Given the description of an element on the screen output the (x, y) to click on. 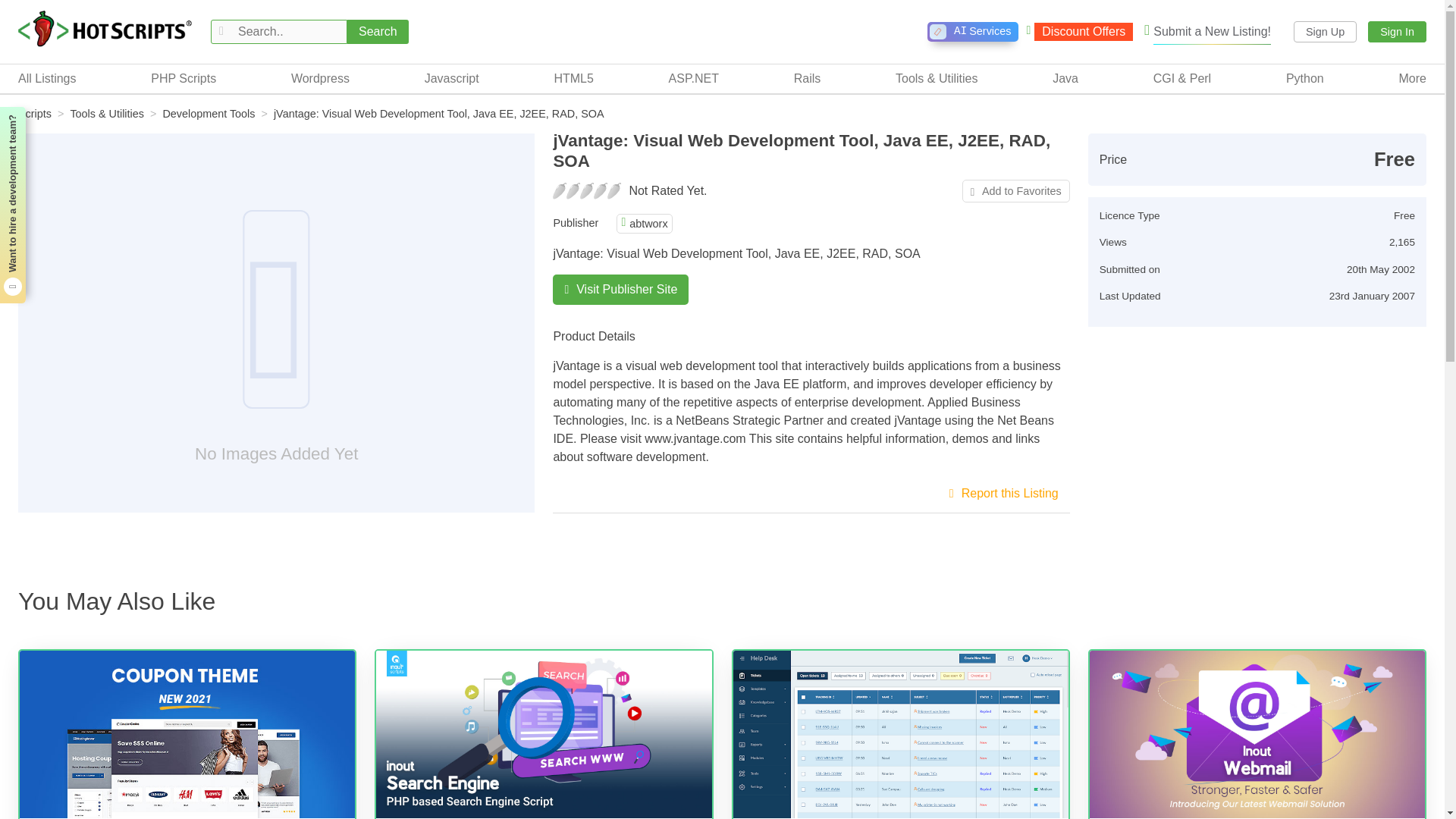
Submit a New Listing! (1207, 31)
Sign In (972, 31)
Visit Listing - Inout Search Engine Script (1397, 31)
Search (543, 734)
PHP Scripts (378, 31)
All Listings (183, 78)
HotScripts (46, 78)
Visit Listing - Inout Webmail (104, 29)
Sign Up (1257, 734)
Discount Offers (1325, 31)
